Given the description of an element on the screen output the (x, y) to click on. 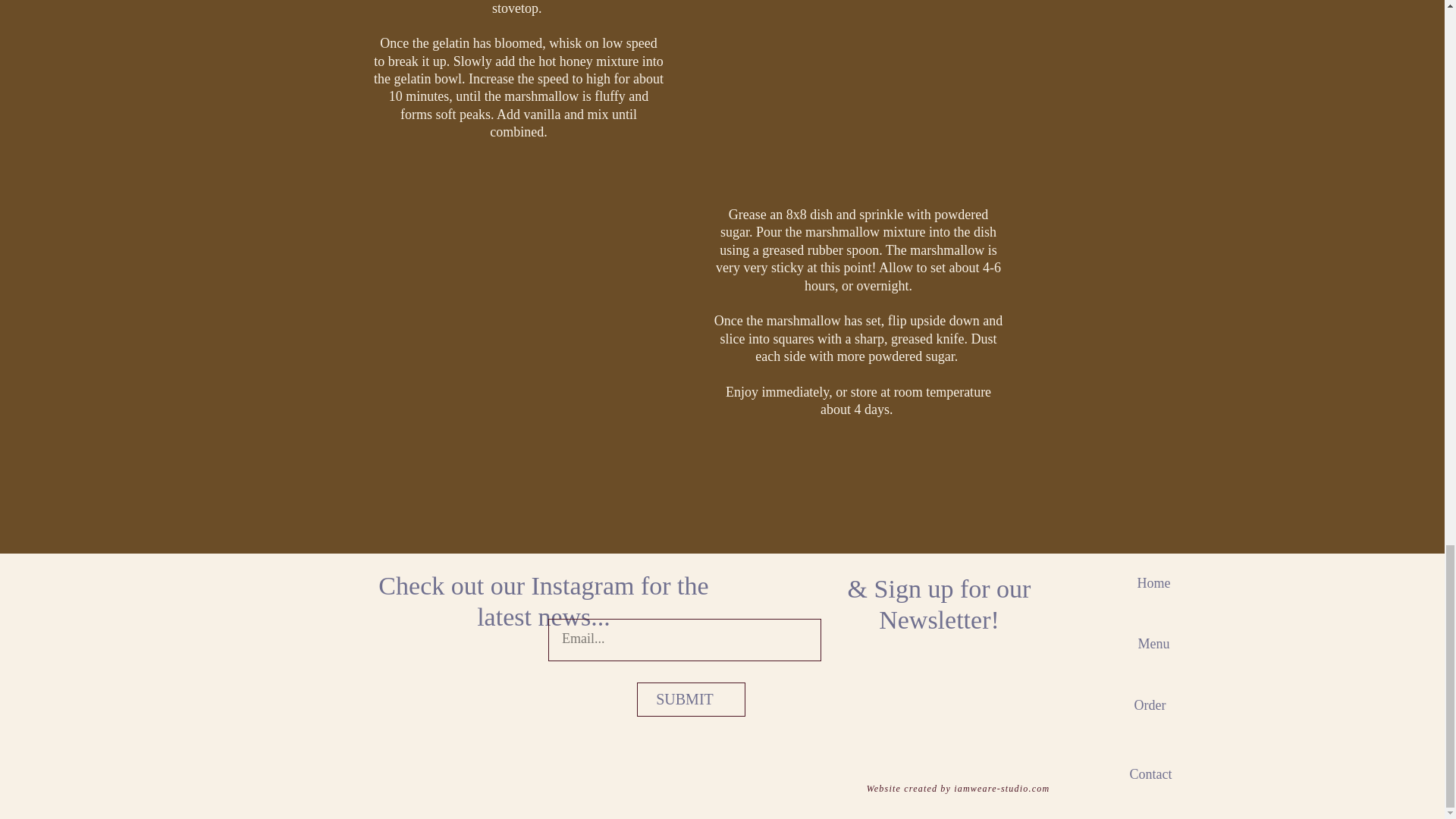
Order (1161, 708)
Contact (1160, 777)
Menu (1160, 647)
SUBMIT (684, 695)
Home (1161, 586)
